Given the description of an element on the screen output the (x, y) to click on. 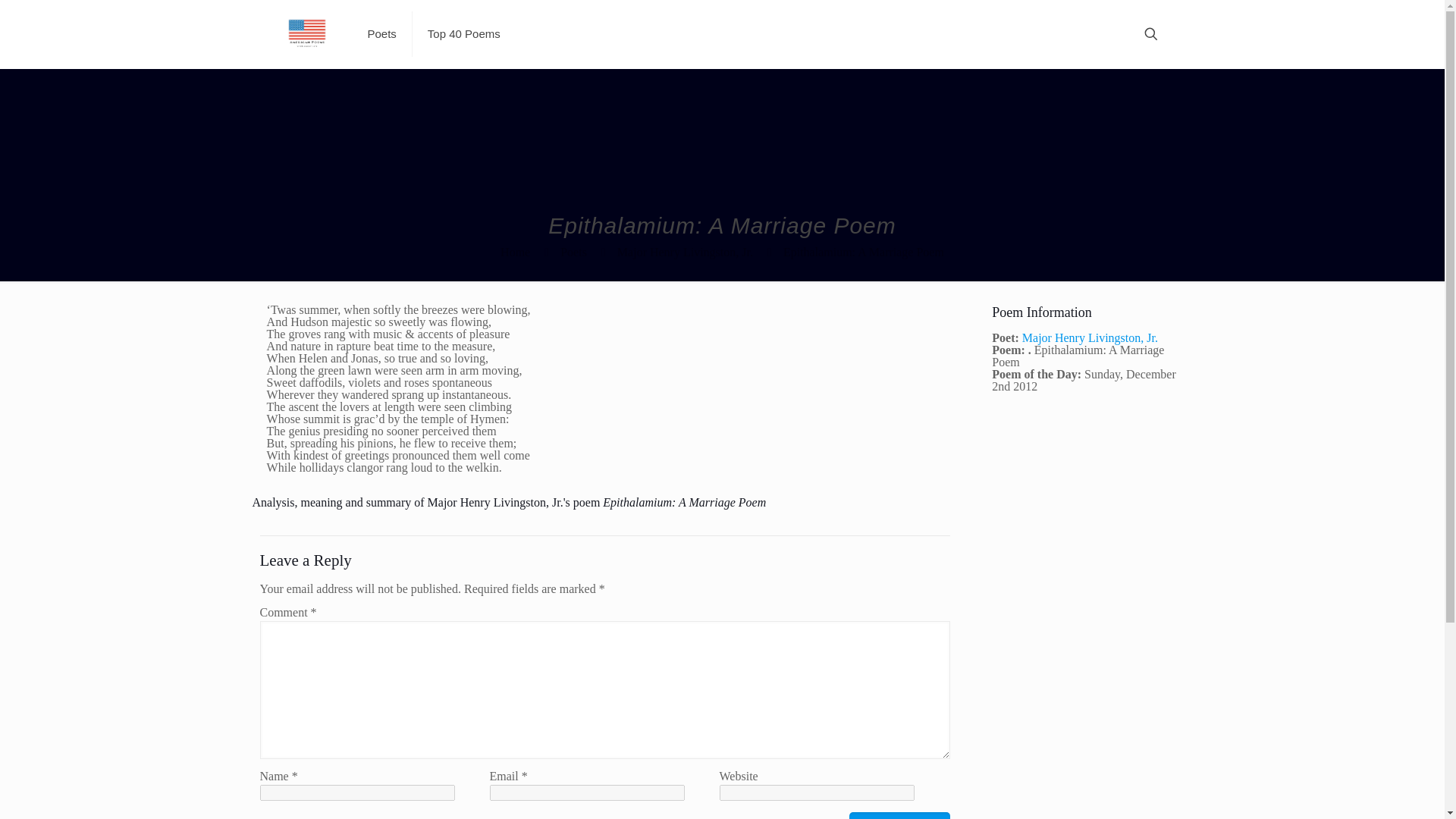
Post Comment (899, 815)
Poets (573, 251)
Major Henry Livingston, Jr. (684, 251)
Home (514, 251)
Post Comment (899, 815)
Epithalamium: A Marriage Poem (863, 251)
Top 40 Poems (463, 33)
Major Henry Livingston, Jr. (1089, 337)
